Given the description of an element on the screen output the (x, y) to click on. 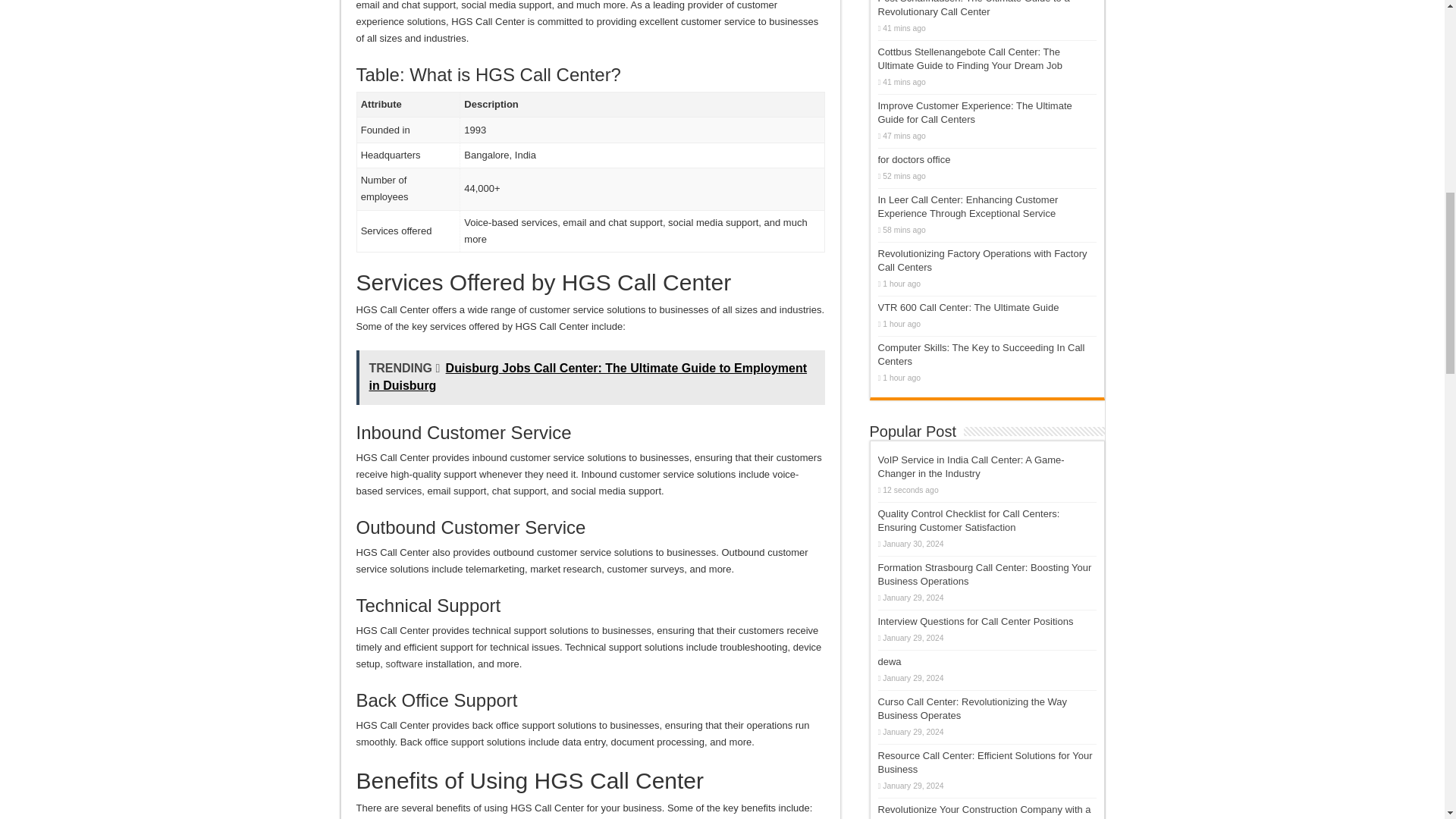
software (404, 663)
software (404, 663)
for doctors office (913, 159)
VTR 600 Call Center: The Ultimate Guide (968, 307)
Revolutionizing Factory Operations with Factory Call Centers (982, 260)
